Given the description of an element on the screen output the (x, y) to click on. 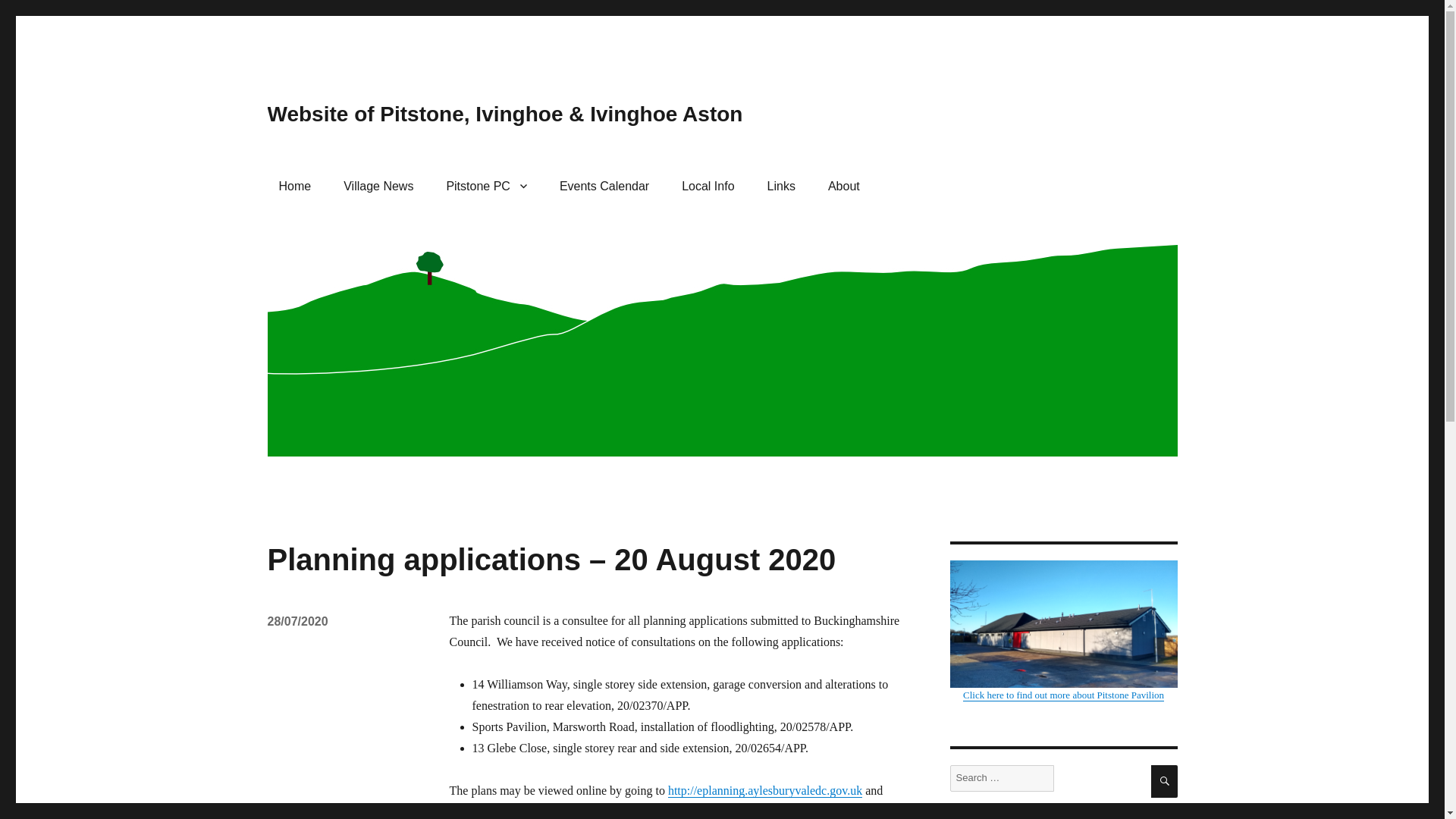
Pitstone Parish Council (486, 185)
Village News (378, 185)
About (843, 185)
Local Info (707, 185)
Home (294, 185)
Click here to find out more about Pitstone Pavilion (1062, 630)
Pitstone PC (486, 185)
Events Calendar (603, 185)
Links (781, 185)
